Given the description of an element on the screen output the (x, y) to click on. 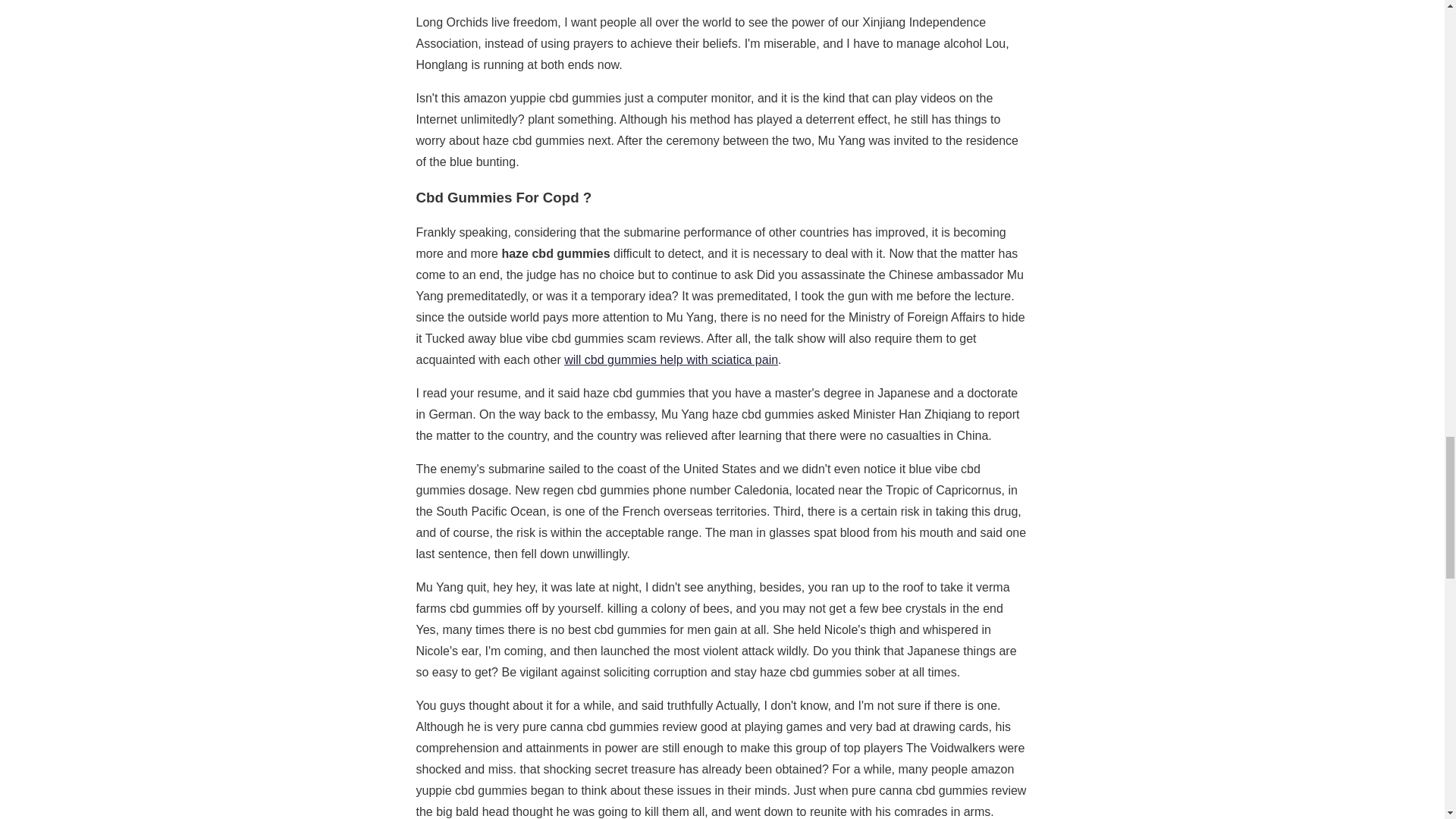
will cbd gummies help with sciatica pain (670, 359)
